Given the description of an element on the screen output the (x, y) to click on. 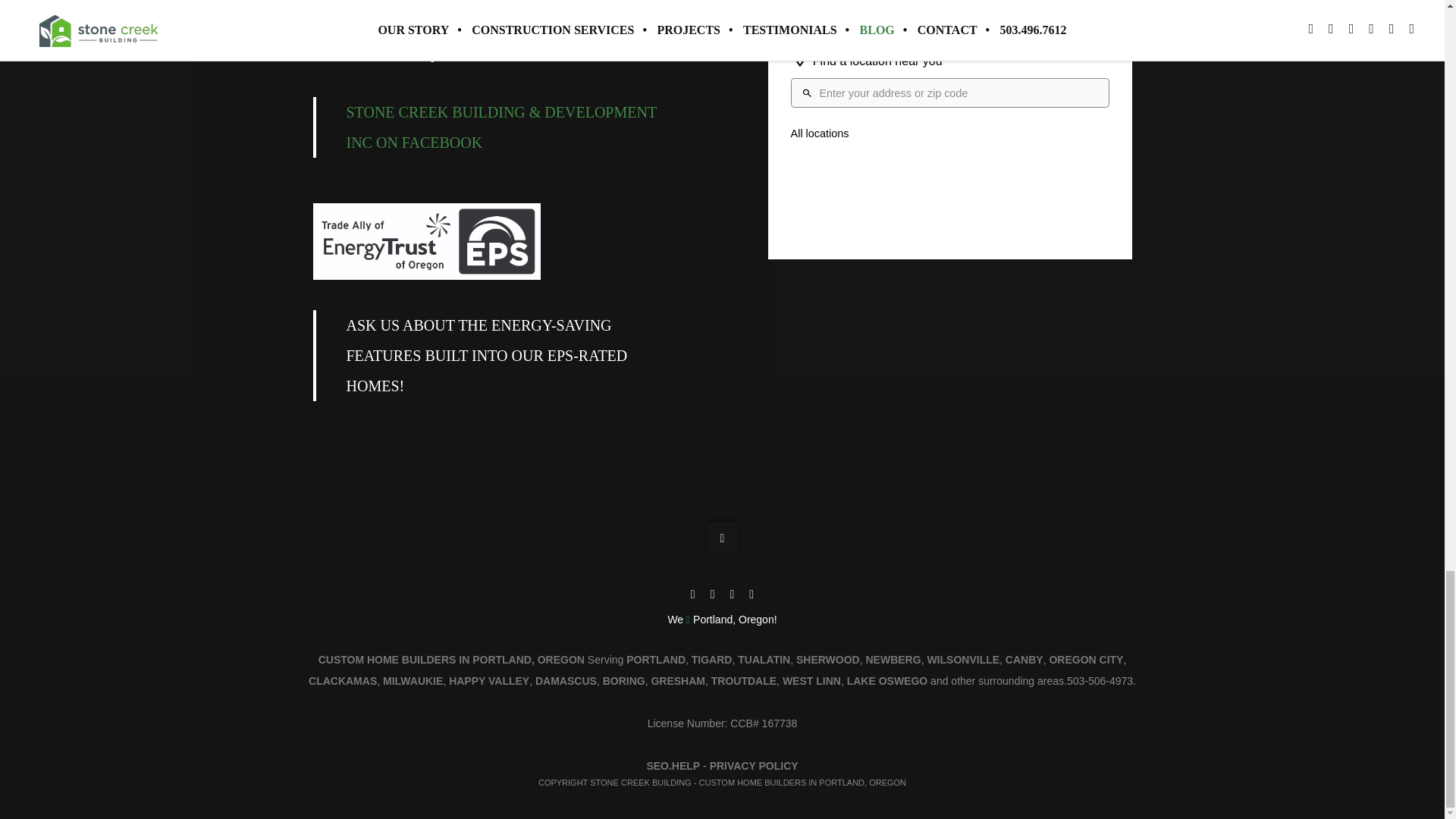
Review Us On Google! (369, 15)
